Given the description of an element on the screen output the (x, y) to click on. 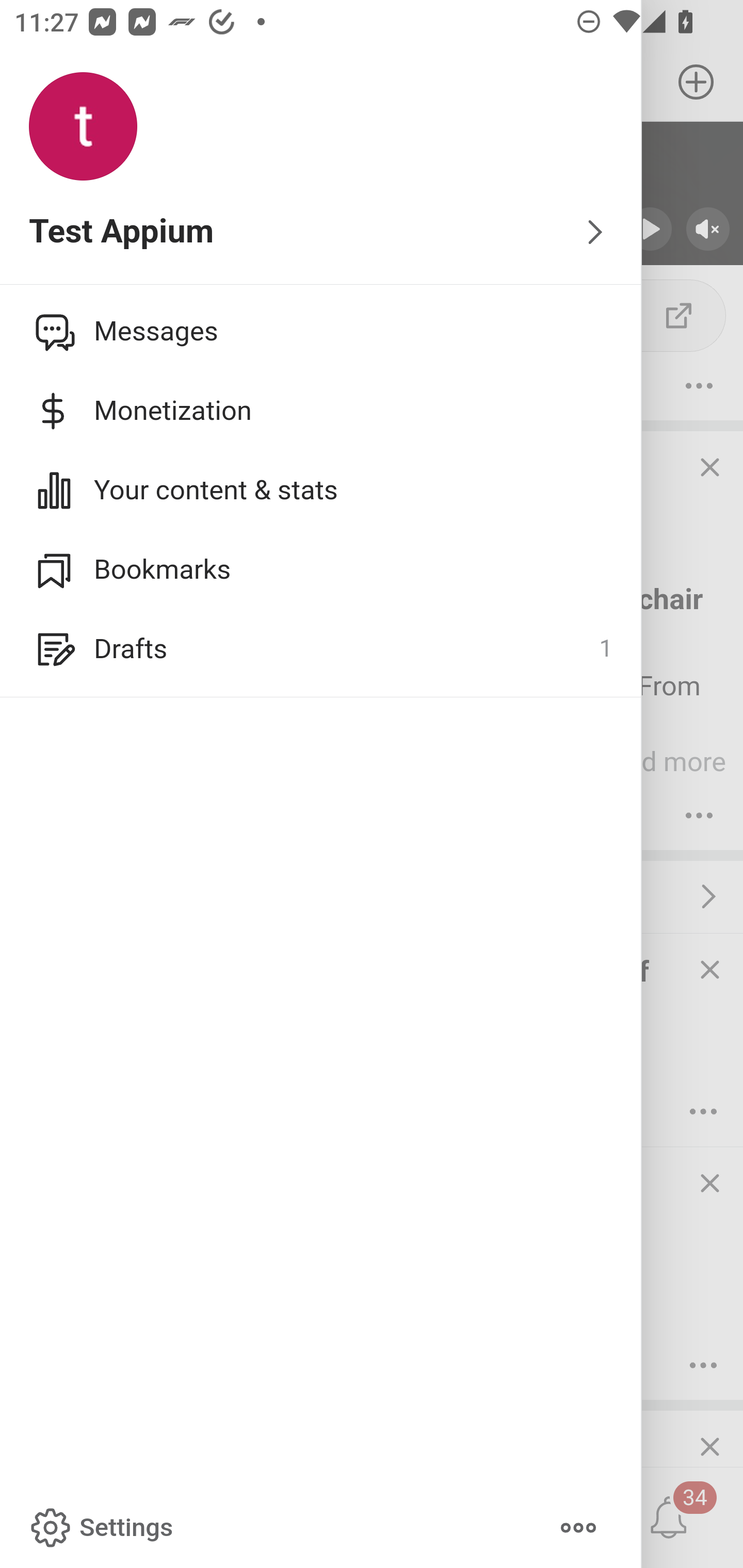
Profile photo for Test Appium (82, 126)
Test Appium (321, 232)
Messages (321, 330)
Monetization (321, 410)
Your content & stats (321, 489)
Bookmarks (321, 568)
Drafts 1 Drafts 1 (321, 648)
Settings (99, 1527)
More (578, 1527)
